Given the description of an element on the screen output the (x, y) to click on. 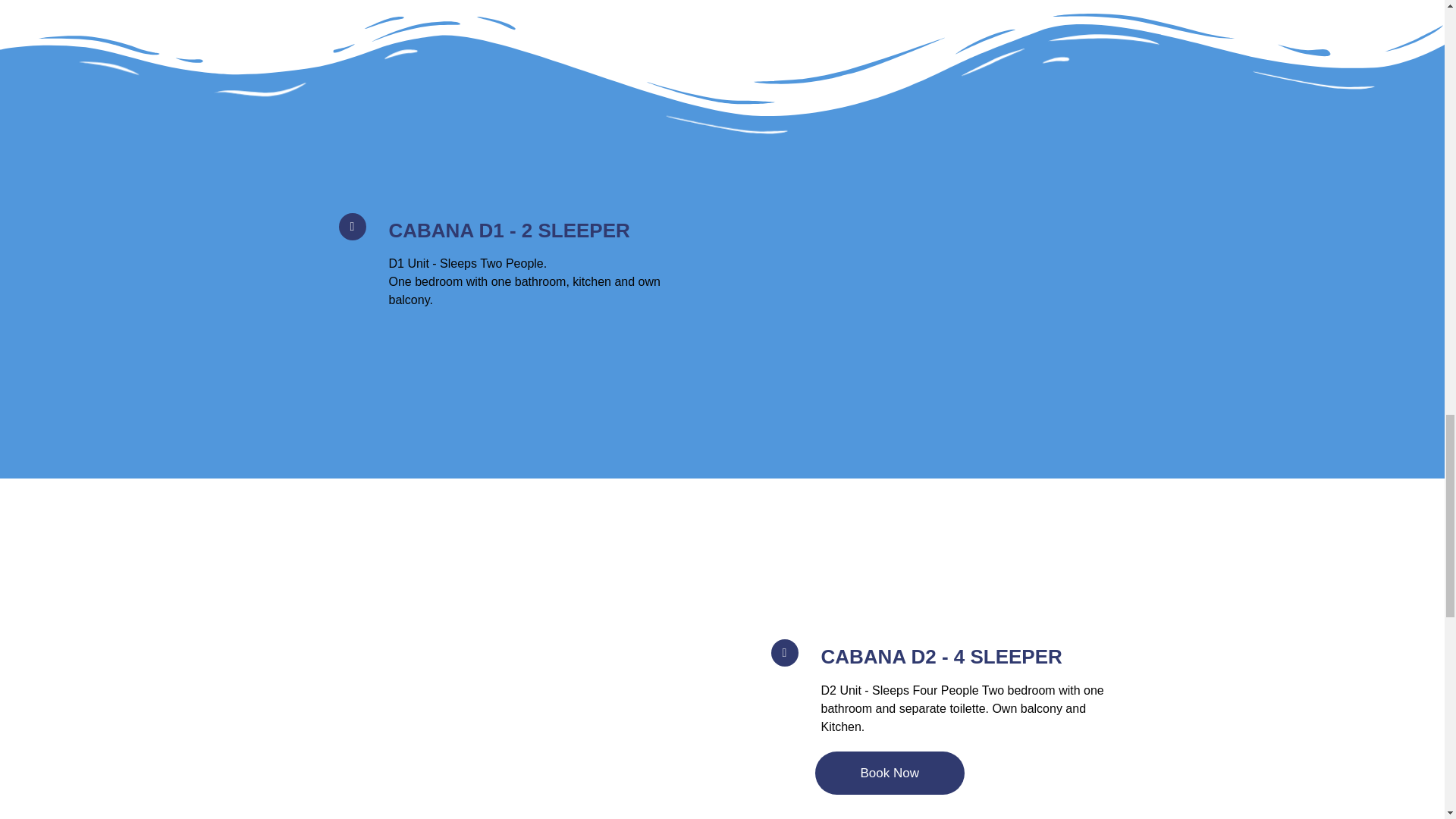
Book Now (888, 772)
